Given the description of an element on the screen output the (x, y) to click on. 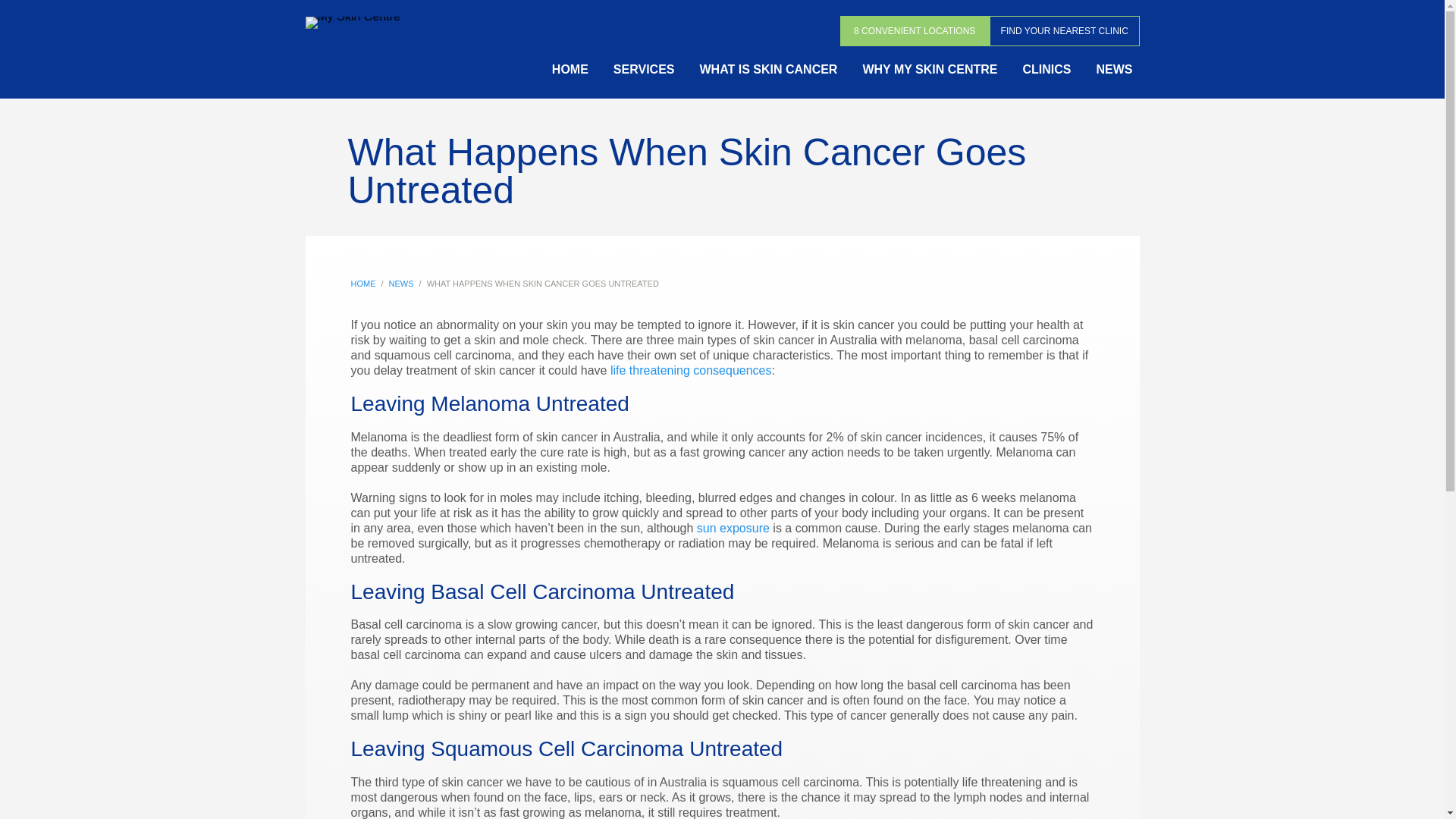
SERVICES (644, 71)
CLINICS (1047, 71)
Go to News. (400, 283)
sun exposure (733, 527)
WHAT IS SKIN CANCER (768, 71)
HOME (362, 283)
NEWS (400, 283)
FIND YOUR NEAREST CLINIC (1065, 30)
WHY MY SKIN CENTRE (930, 71)
Go to My Skin Centre. (362, 283)
